Given the description of an element on the screen output the (x, y) to click on. 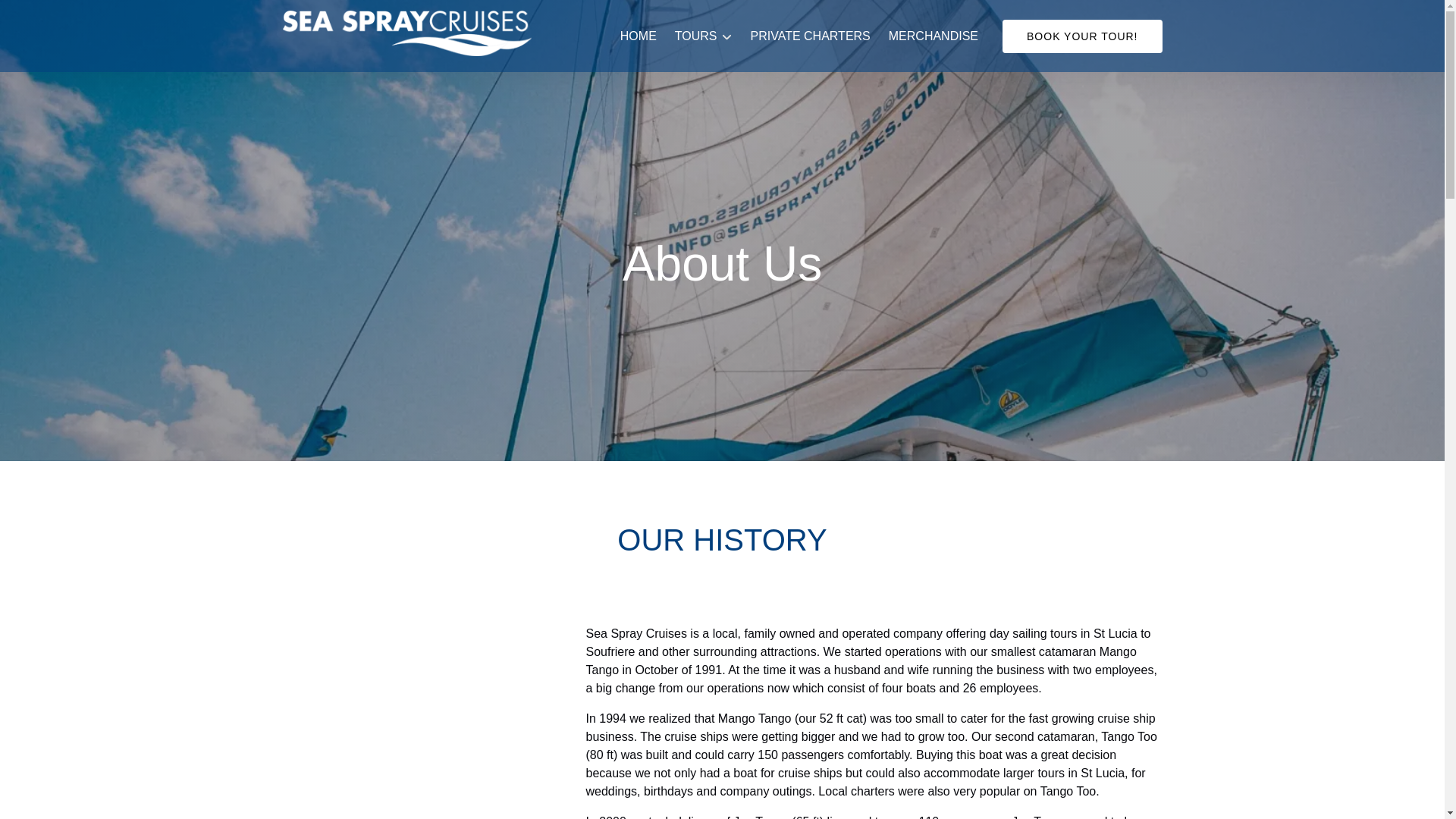
Open Tours Menu (706, 32)
Skip to primary navigation (77, 16)
BOOK YOUR TOUR! (1082, 36)
HOME (638, 35)
PRIVATE CHARTERS (810, 35)
Skip to footer (42, 16)
Skip to content (47, 16)
TOURS (703, 35)
MERCHANDISE (933, 35)
